Given the description of an element on the screen output the (x, y) to click on. 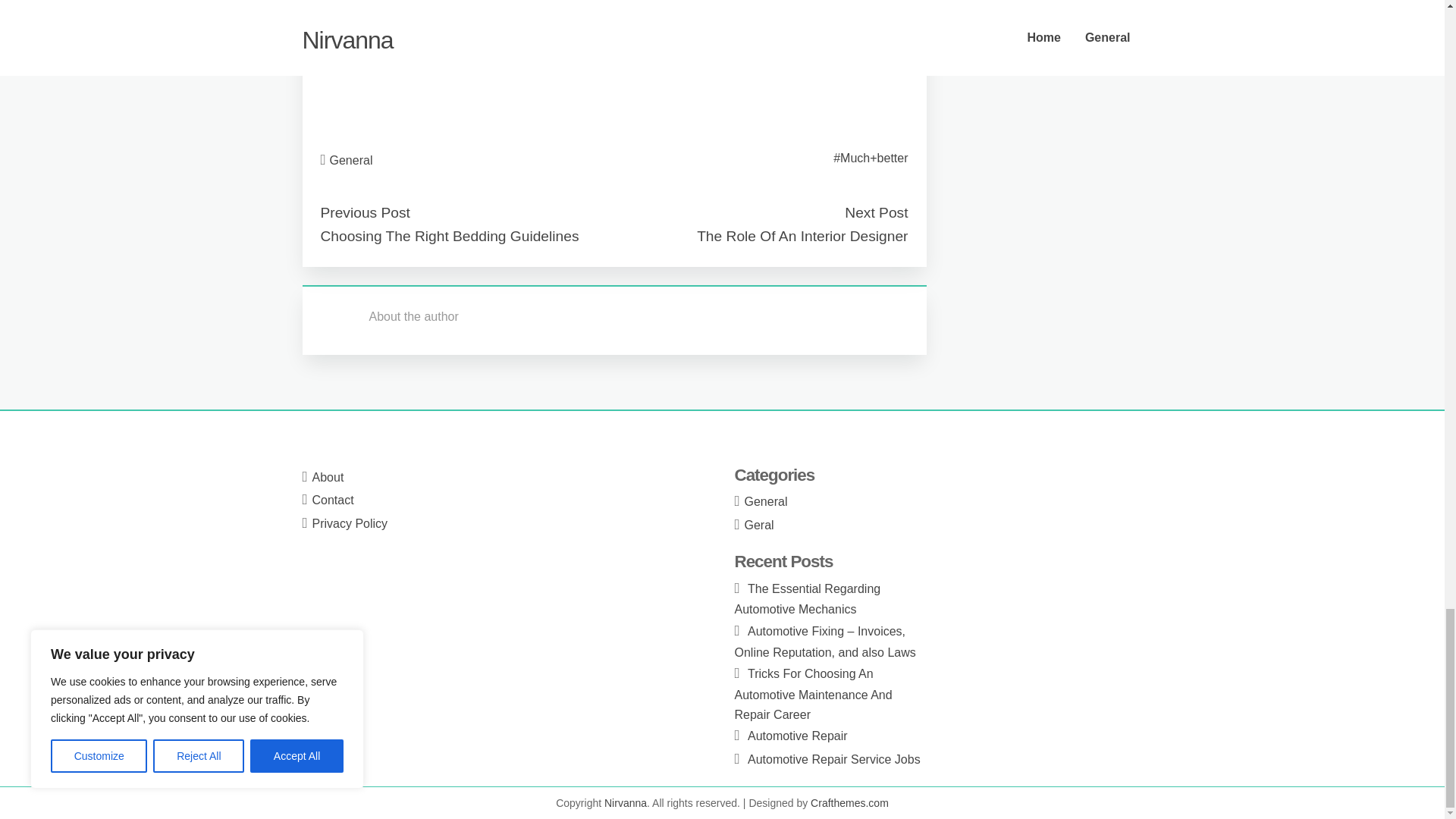
Previous Post (364, 212)
General (351, 160)
Next Post (875, 212)
The Role Of An Interior Designer (802, 236)
Choosing The Right Bedding Guidelines (449, 236)
